Given the description of an element on the screen output the (x, y) to click on. 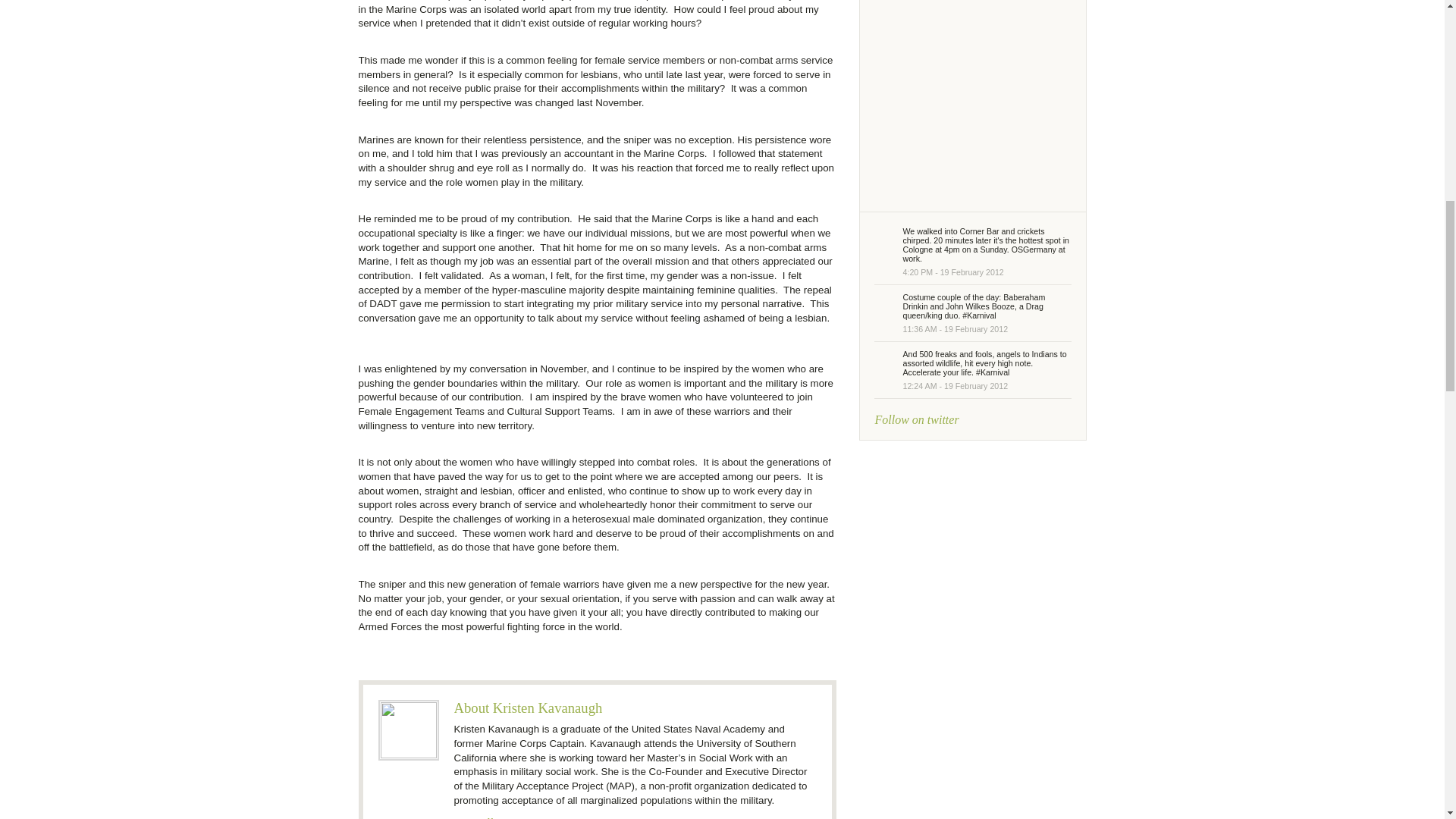
Follow on twitter (909, 426)
View all posts (486, 813)
